Given the description of an element on the screen output the (x, y) to click on. 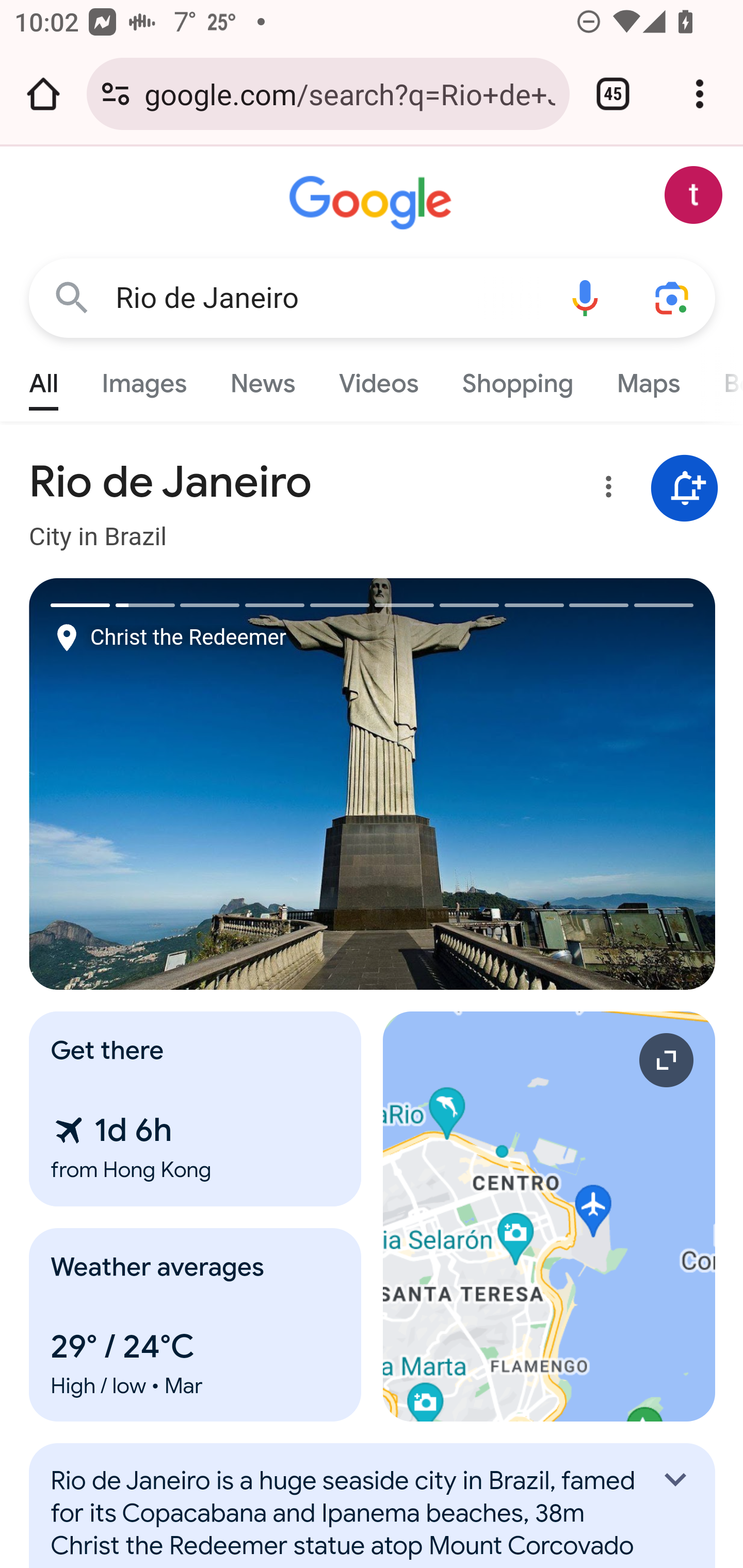
Open the home page (43, 93)
Connection is secure (115, 93)
Switch or close tabs (612, 93)
Customize and control Google Chrome (699, 93)
Google (372, 203)
Google Search (71, 296)
Search using your camera or photos (672, 296)
Rio de Janeiro (328, 297)
Images (144, 378)
News (262, 378)
Videos (378, 378)
Shopping (516, 378)
Maps (647, 378)
Get notifications about Rio de Janeiro (684, 489)
More options (605, 489)
Previous image (200, 783)
Next image (544, 783)
Expand map (549, 1216)
Weather averages 29° / 24°C High / low • Mar (195, 1324)
